Given the description of an element on the screen output the (x, y) to click on. 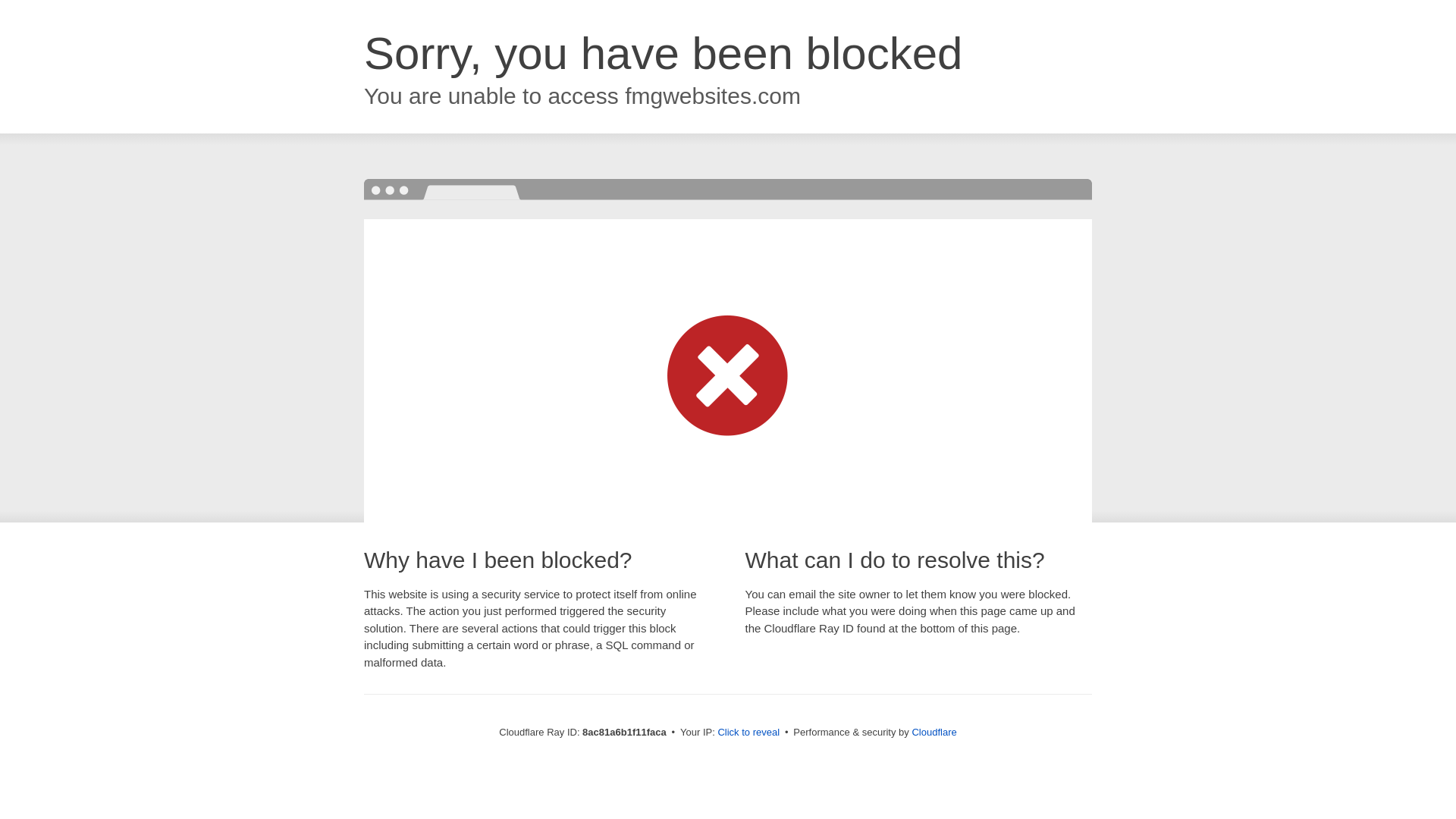
Cloudflare (933, 731)
Click to reveal (747, 732)
